Given the description of an element on the screen output the (x, y) to click on. 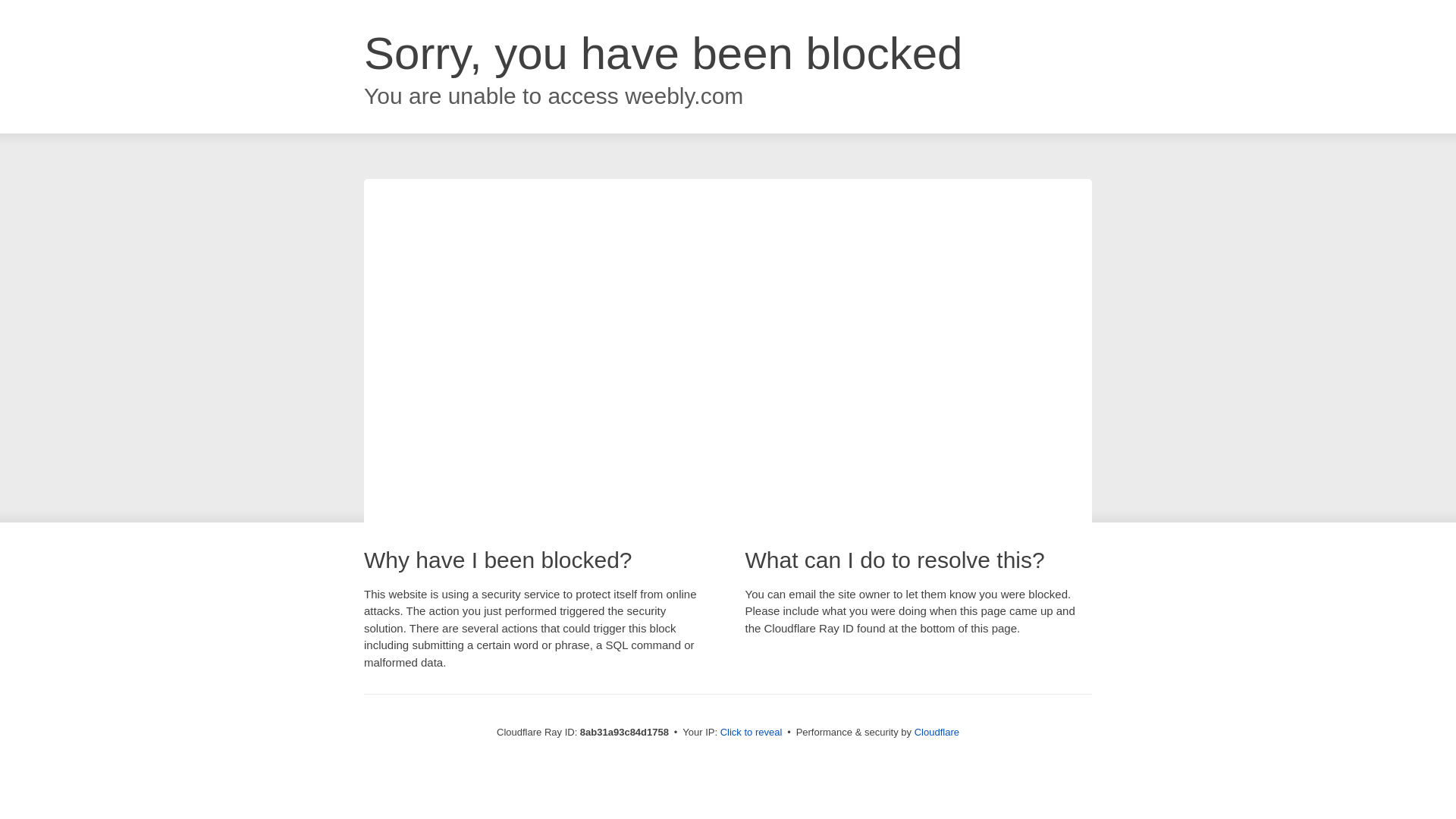
Cloudflare (936, 731)
Click to reveal (751, 732)
